Given the description of an element on the screen output the (x, y) to click on. 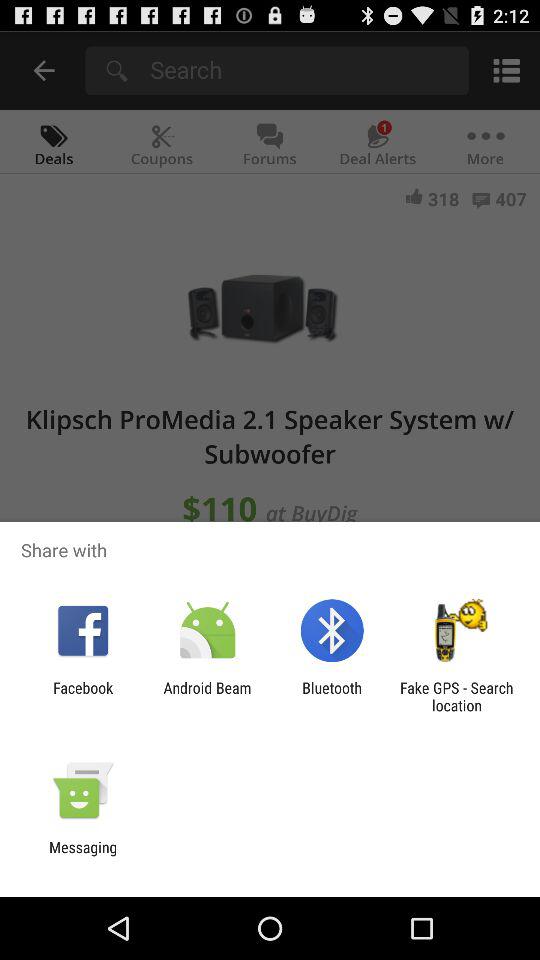
scroll until android beam app (207, 696)
